Given the description of an element on the screen output the (x, y) to click on. 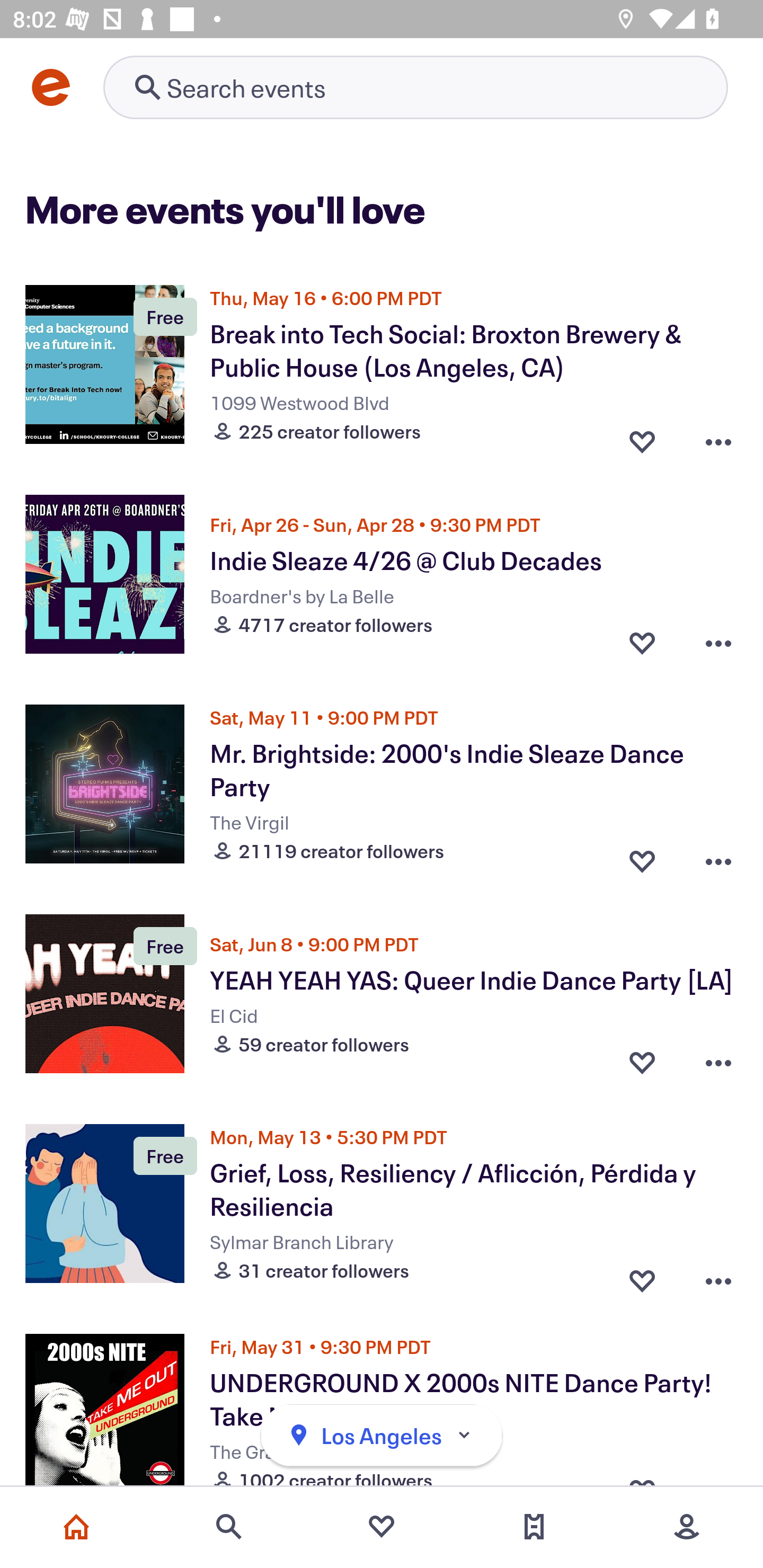
Retry's image Search events (415, 86)
Favorite button (642, 436)
Overflow menu button (718, 436)
Favorite button (642, 641)
Overflow menu button (718, 641)
Favorite button (642, 856)
Overflow menu button (718, 856)
Favorite button (642, 1062)
Overflow menu button (718, 1062)
Favorite button (642, 1275)
Overflow menu button (718, 1275)
Los Angeles (381, 1435)
Home (76, 1526)
Search events (228, 1526)
Favorites (381, 1526)
Tickets (533, 1526)
More (686, 1526)
